Given the description of an element on the screen output the (x, y) to click on. 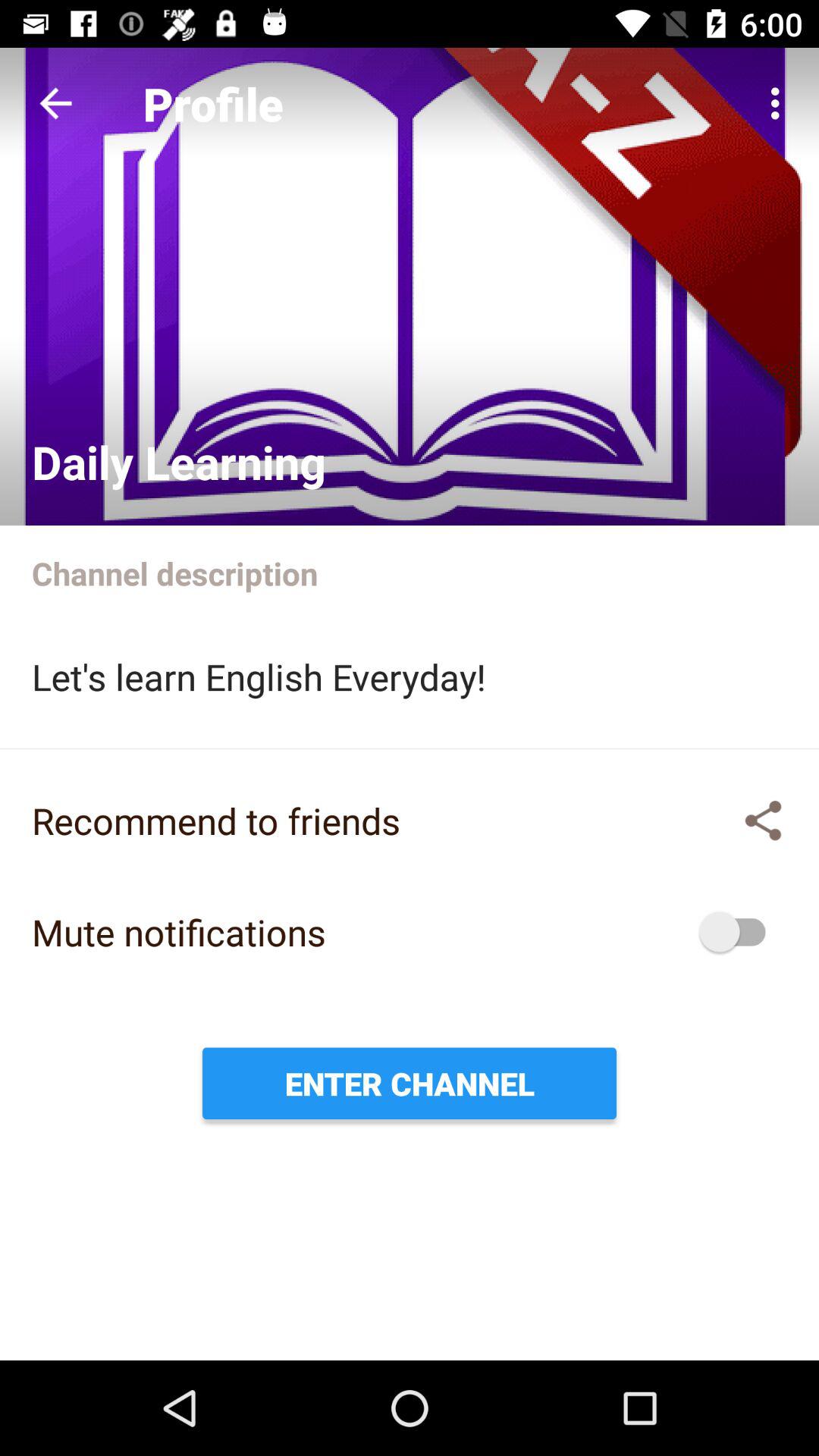
press icon at the top right corner (779, 103)
